Given the description of an element on the screen output the (x, y) to click on. 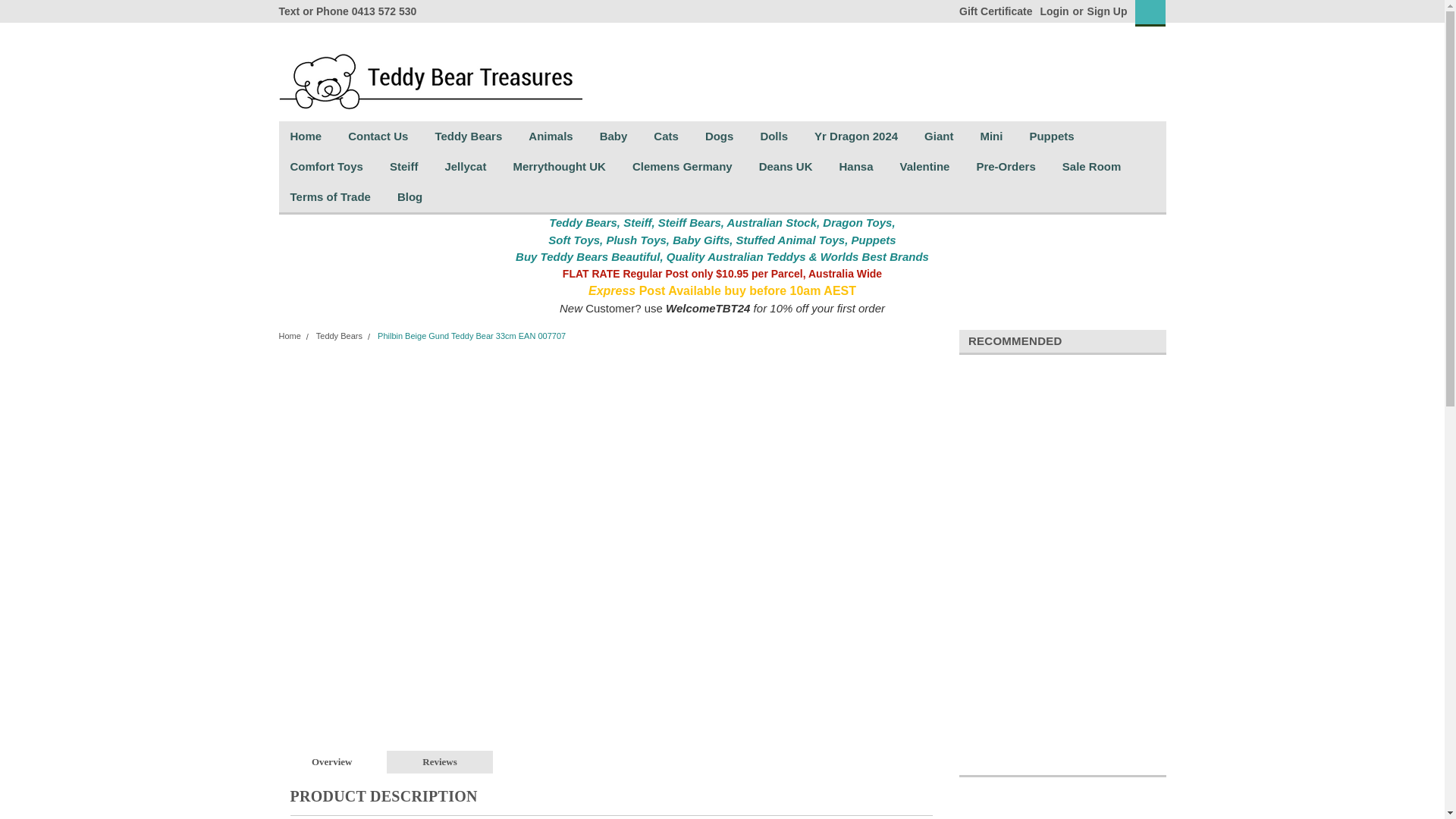
Gift Certificate (992, 11)
Login (1054, 11)
Sign Up (1104, 11)
Teddy Bear Treasures (430, 71)
